Given the description of an element on the screen output the (x, y) to click on. 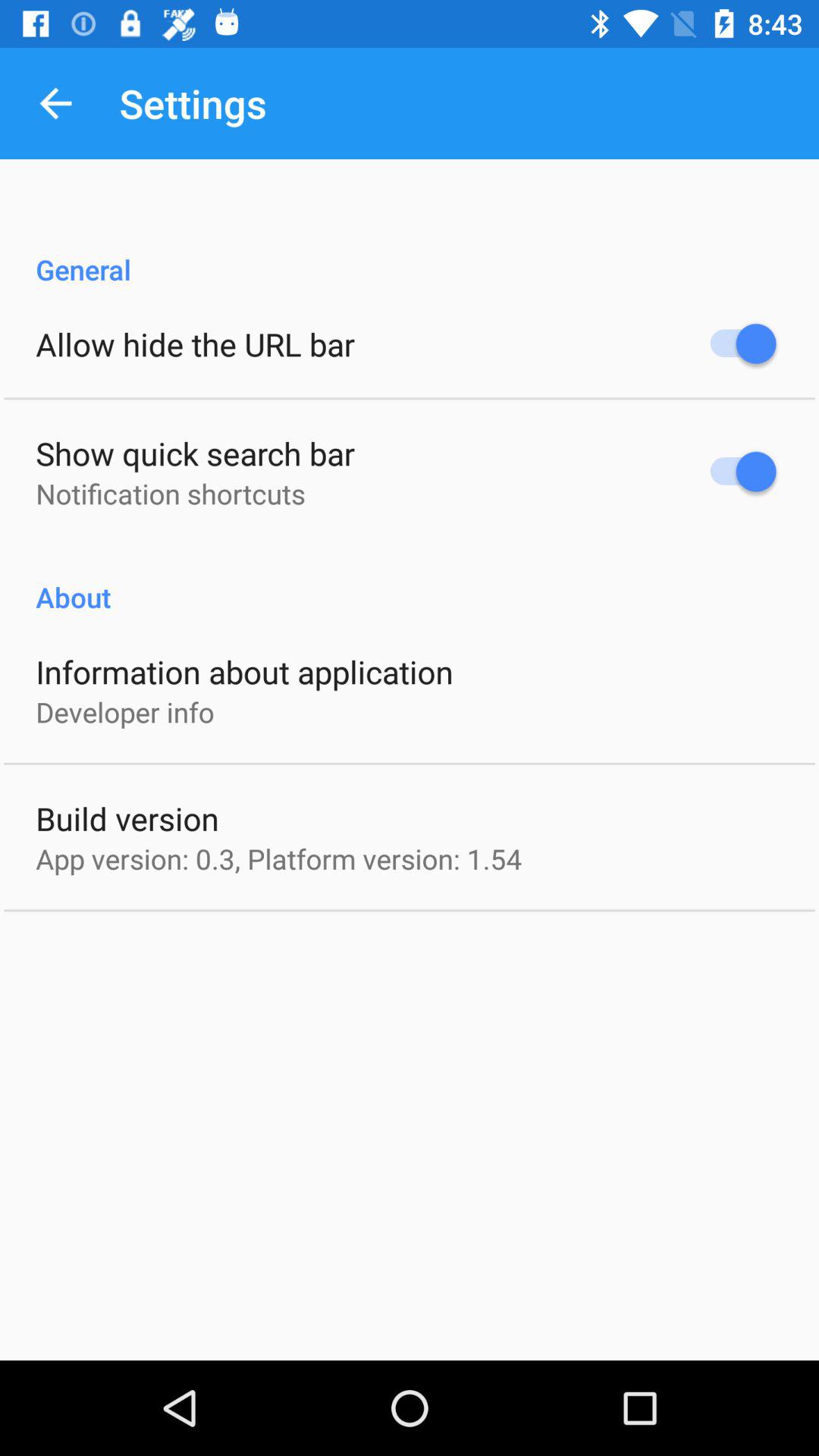
swipe to notification shortcuts (170, 493)
